Given the description of an element on the screen output the (x, y) to click on. 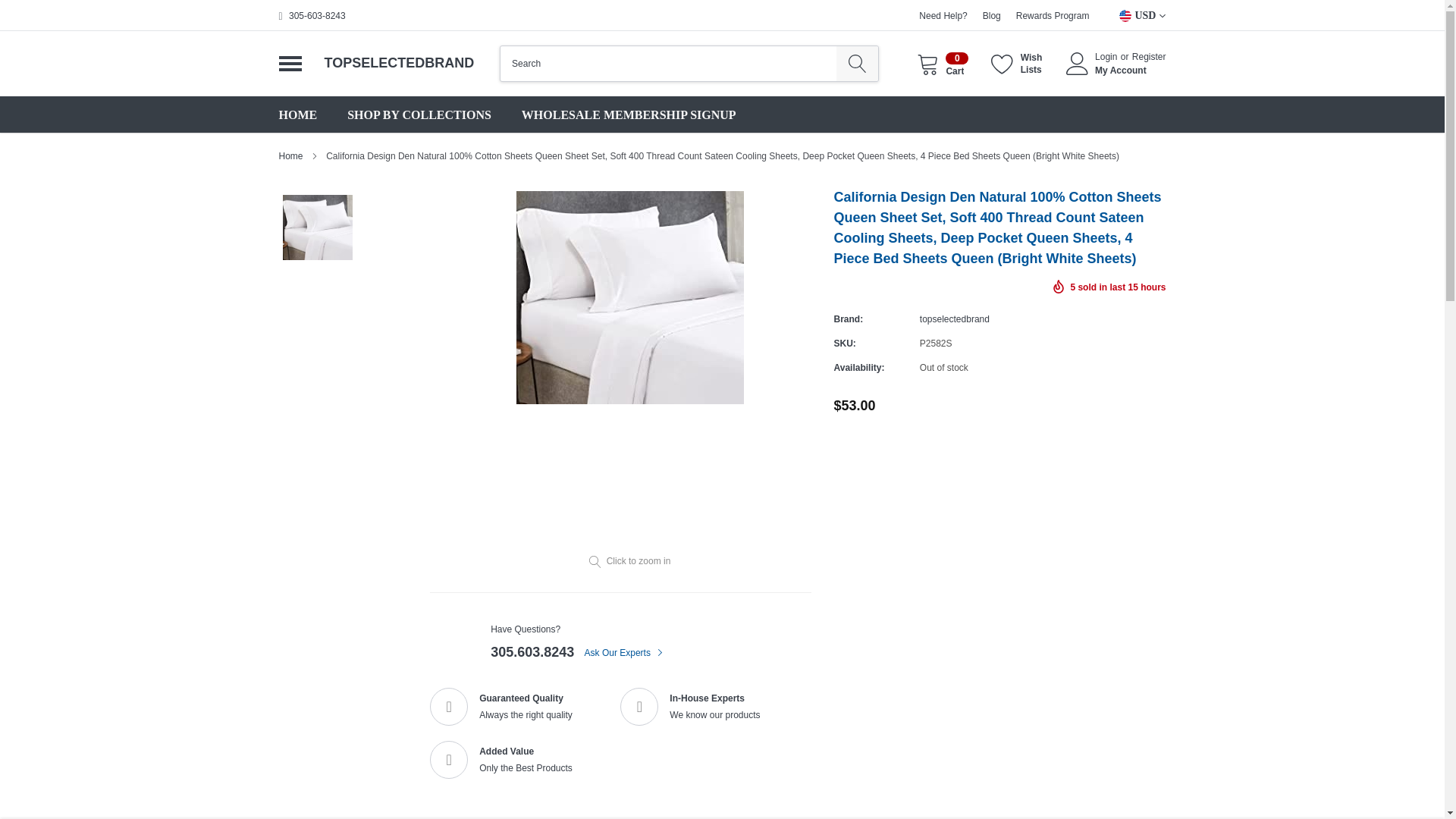
Rewards Program (1052, 15)
My Account (1130, 70)
Wish Lists (942, 63)
Register (1016, 63)
305-603-8243 (1149, 56)
Blog (317, 15)
topselectedbrand (991, 15)
Need Help? (955, 318)
TOPSELECTEDBRAND (942, 15)
